Given the description of an element on the screen output the (x, y) to click on. 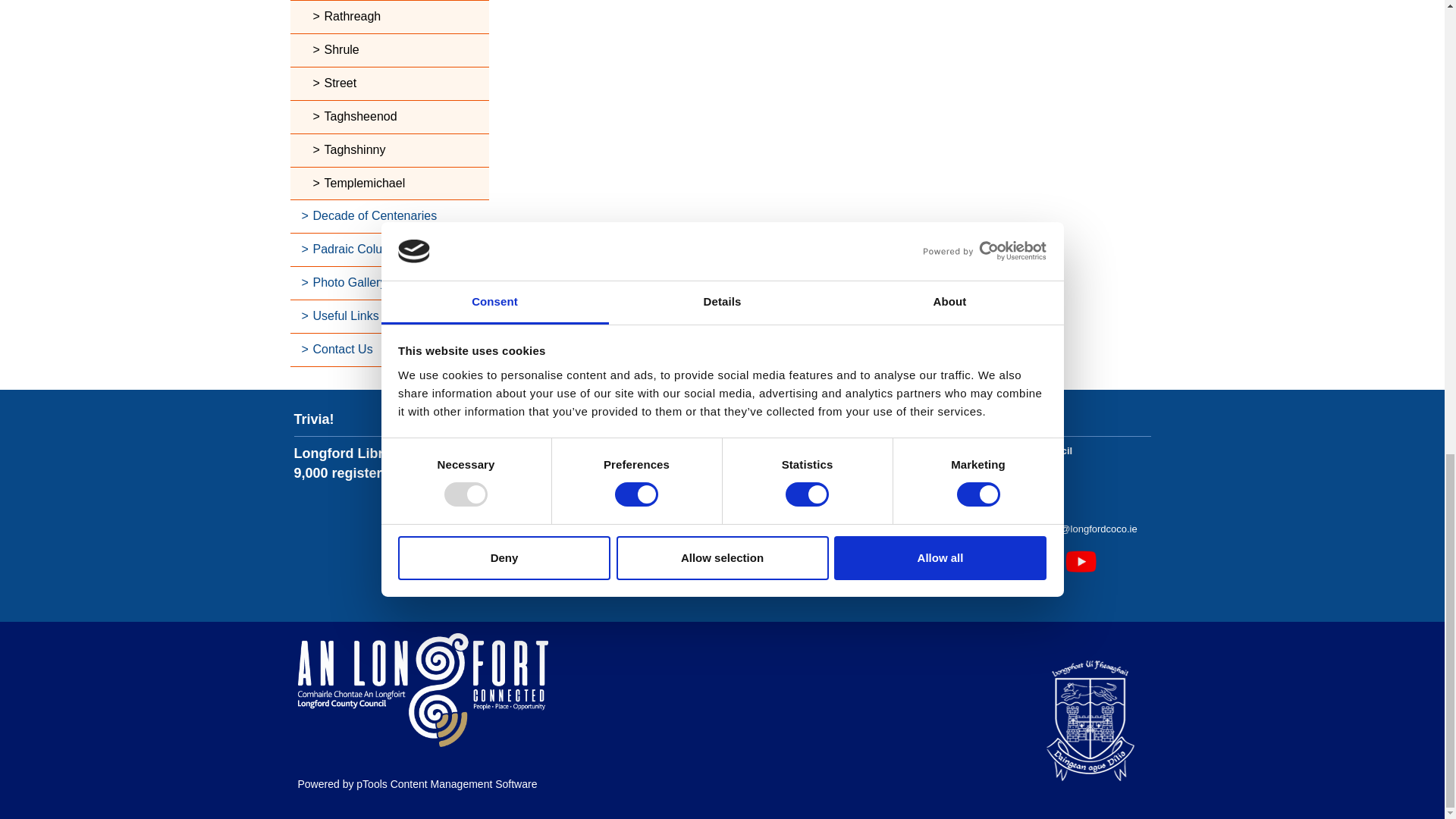
instagram (1044, 561)
youtube (1080, 561)
twitter (1007, 561)
Facebook (970, 561)
